Given the description of an element on the screen output the (x, y) to click on. 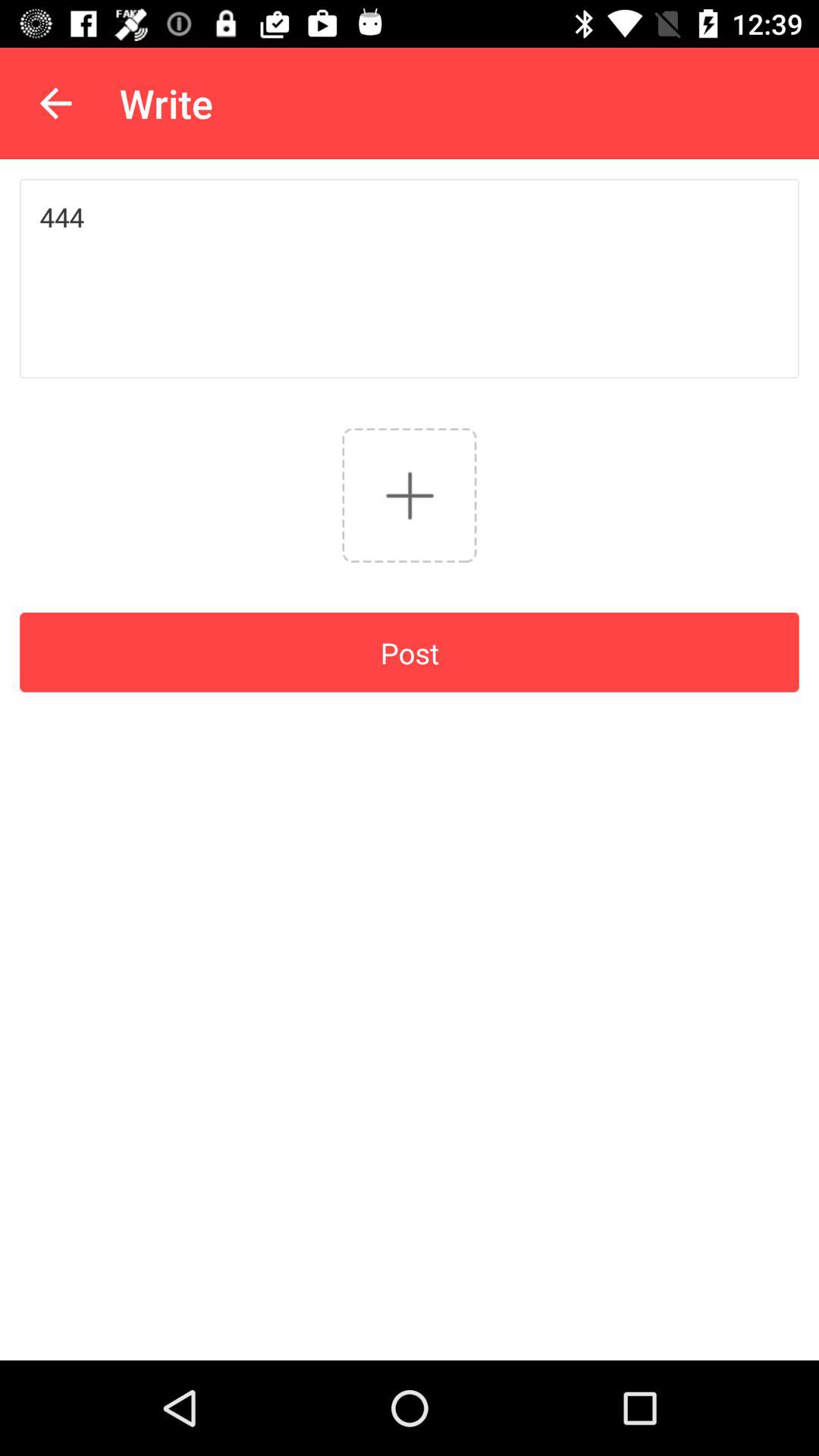
add post (409, 495)
